Given the description of an element on the screen output the (x, y) to click on. 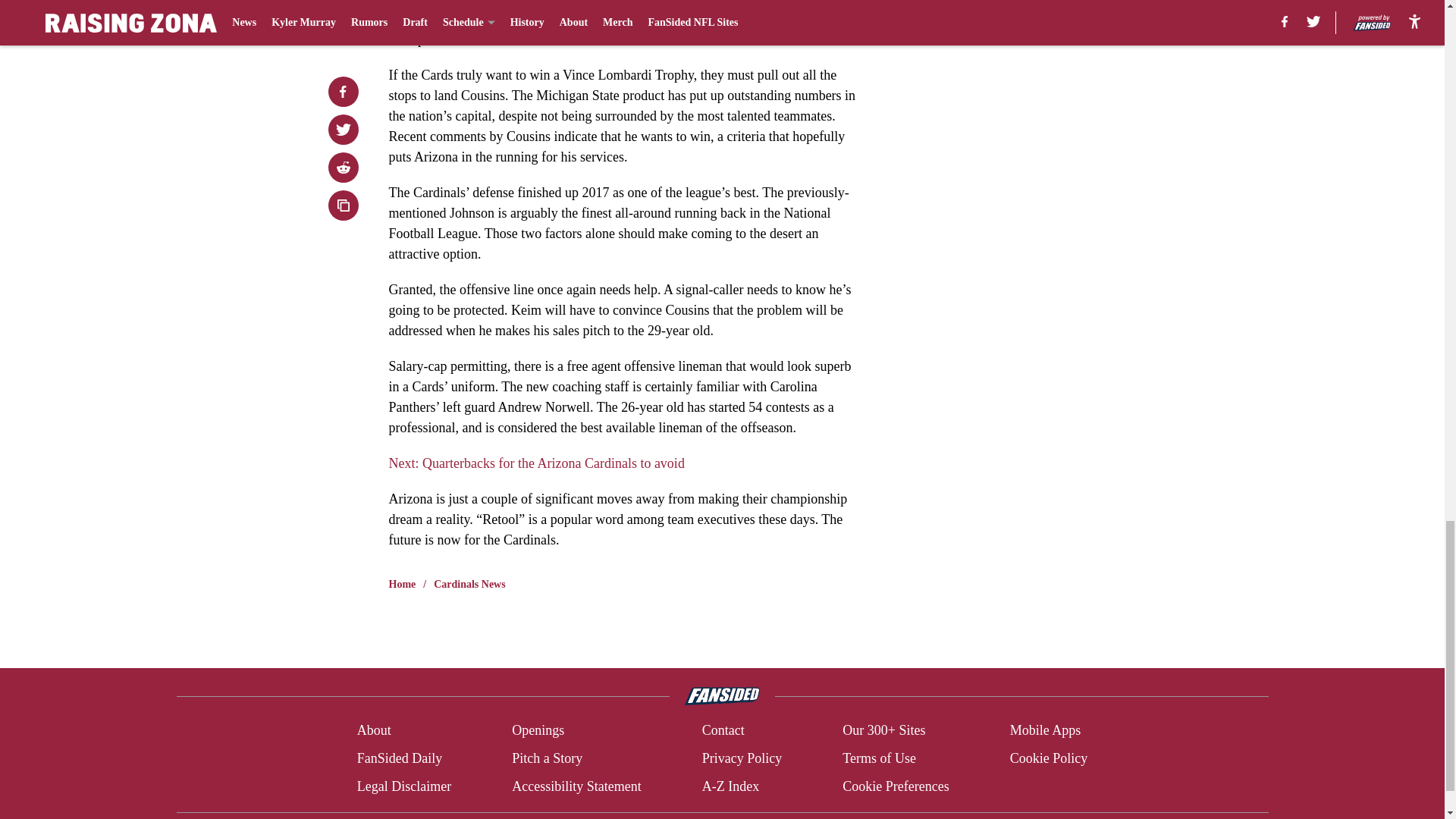
About (373, 730)
Contact (722, 730)
Legal Disclaimer (403, 786)
Next: Quarterbacks for the Arizona Cardinals to avoid (536, 462)
Openings (538, 730)
FanSided Daily (399, 758)
A-Z Index (729, 786)
Home (401, 584)
Terms of Use (879, 758)
Cardinals News (469, 584)
